Given the description of an element on the screen output the (x, y) to click on. 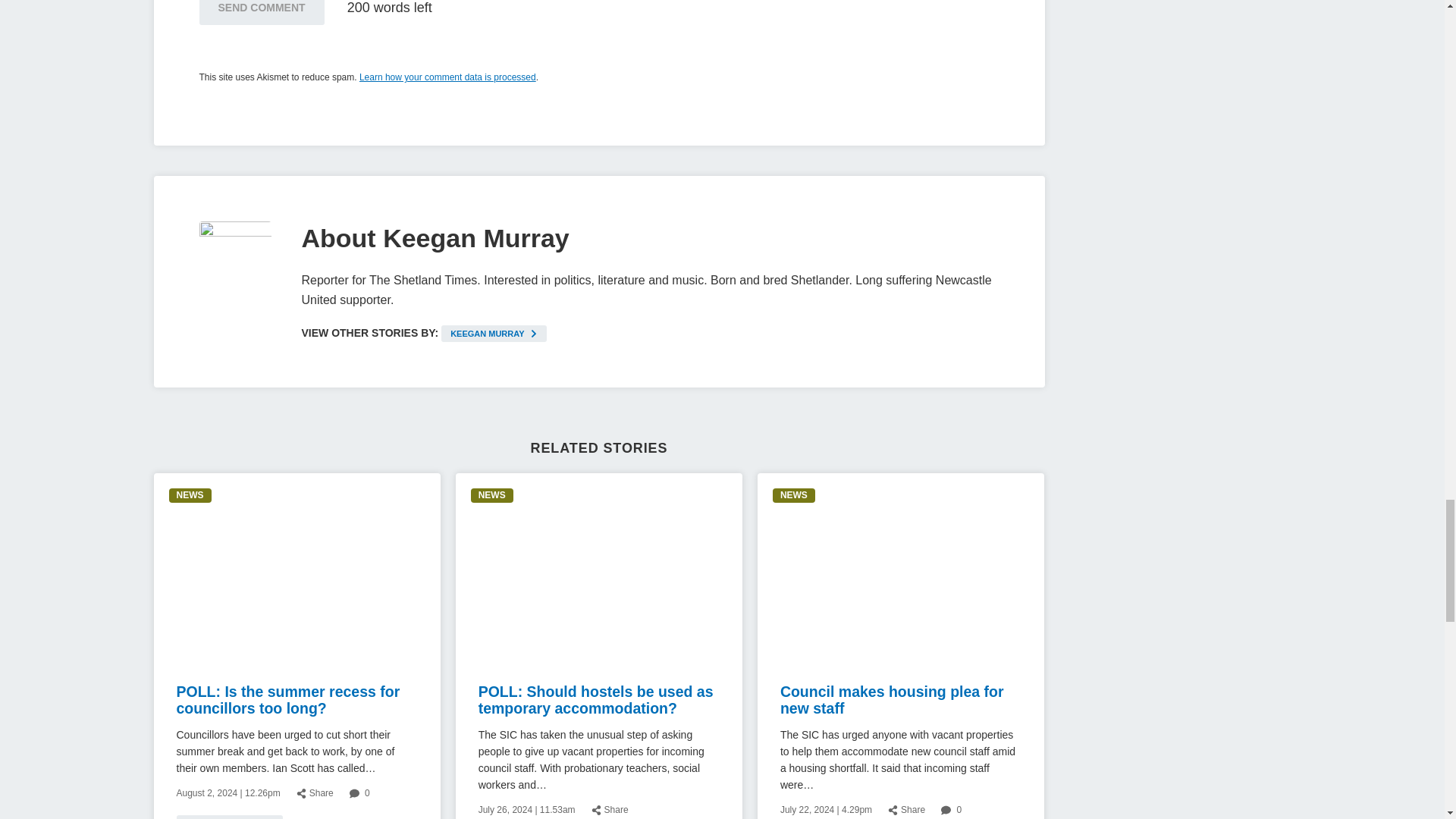
SEND COMMENT (260, 12)
POLL: Is the summer recess for councillors too long? (287, 699)
NEWS (189, 495)
Learn how your comment data is processed (447, 77)
KEEGAN MURRAY (494, 333)
